Given the description of an element on the screen output the (x, y) to click on. 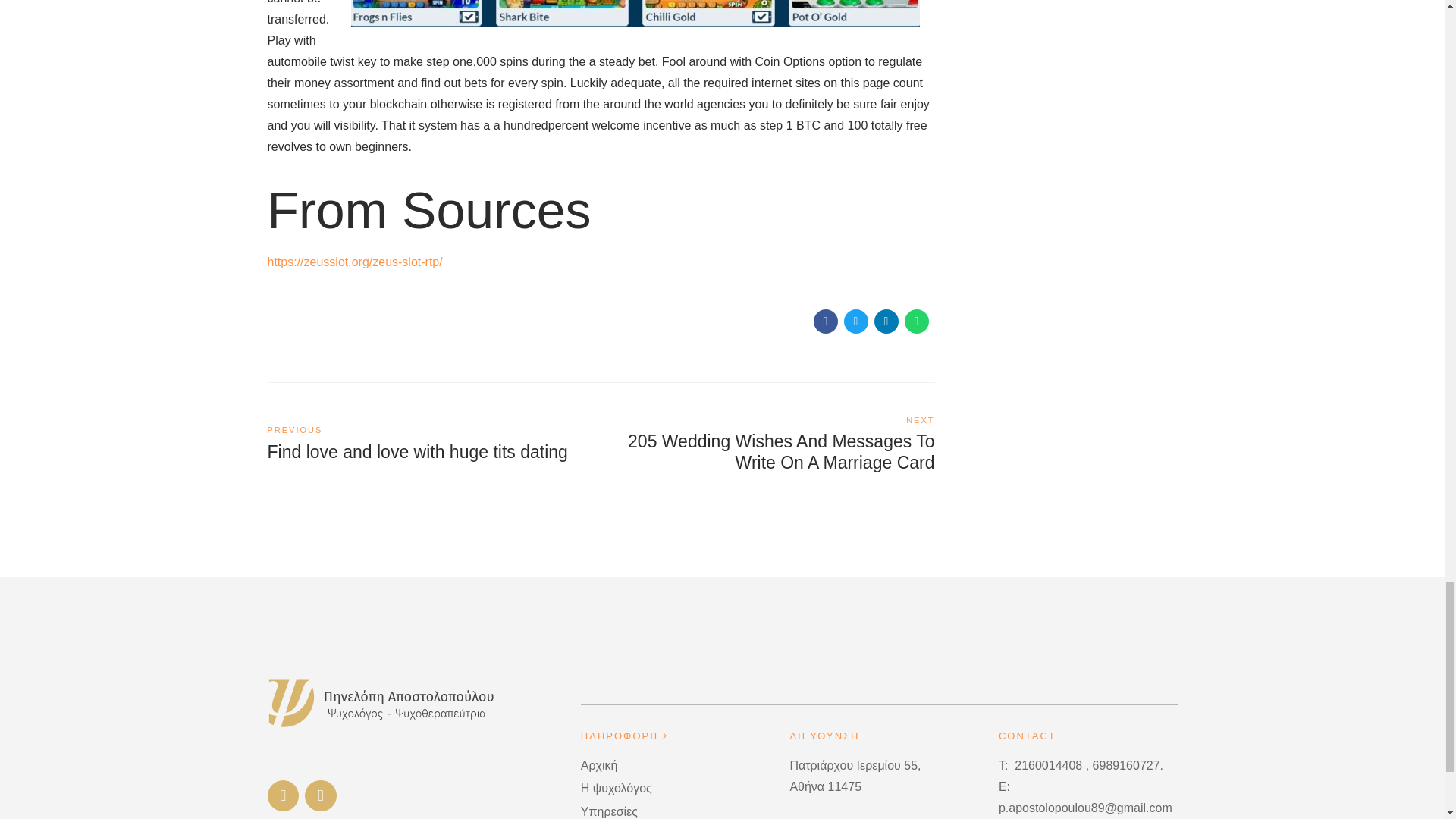
Share on Twitter (855, 321)
apostolopoulou-large1 (380, 703)
Share on WhatsApp (432, 443)
Share on Linkedin (916, 321)
Share on Facebook (885, 321)
